Given the description of an element on the screen output the (x, y) to click on. 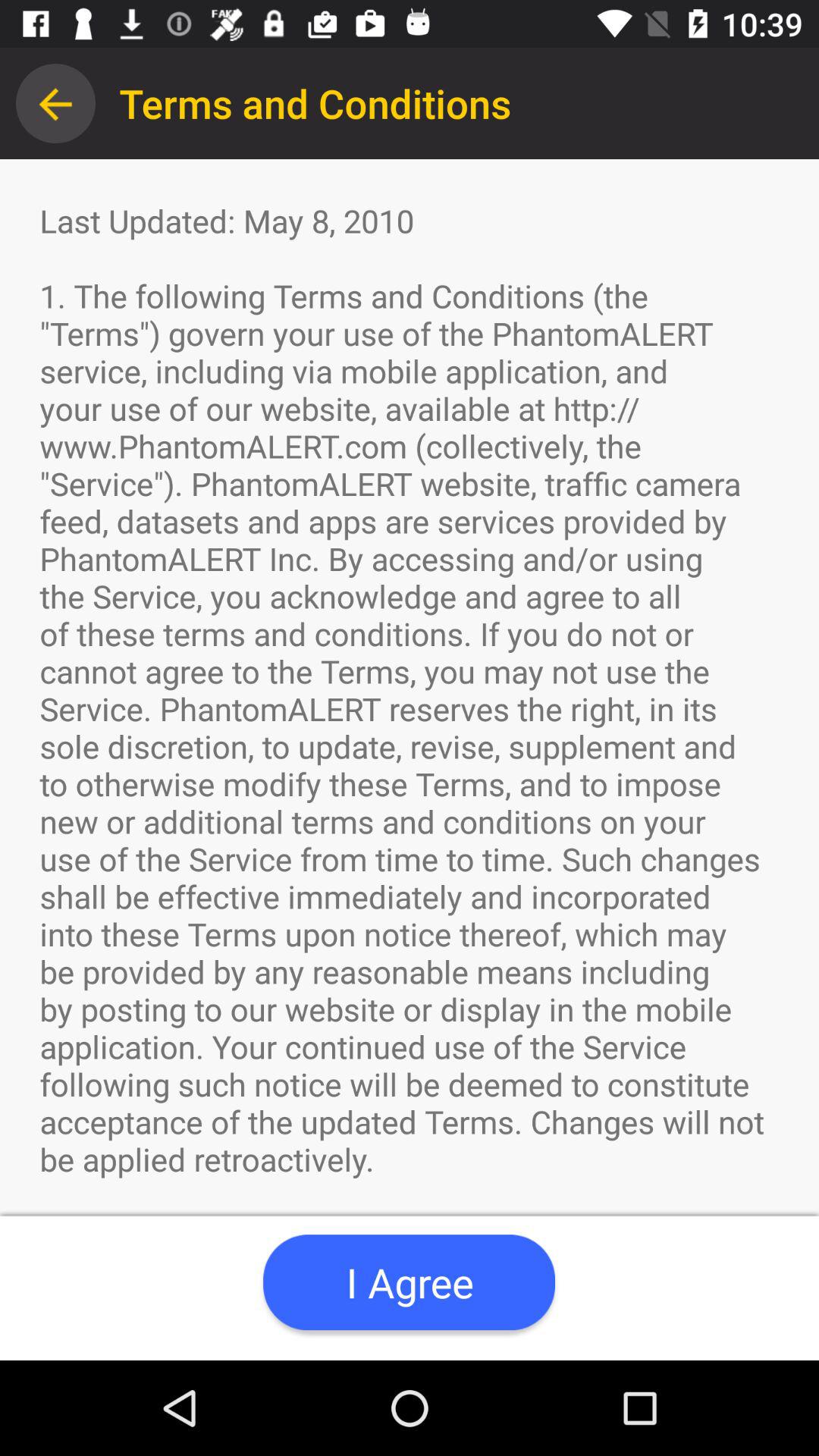
turn off icon above last updated may item (55, 103)
